Given the description of an element on the screen output the (x, y) to click on. 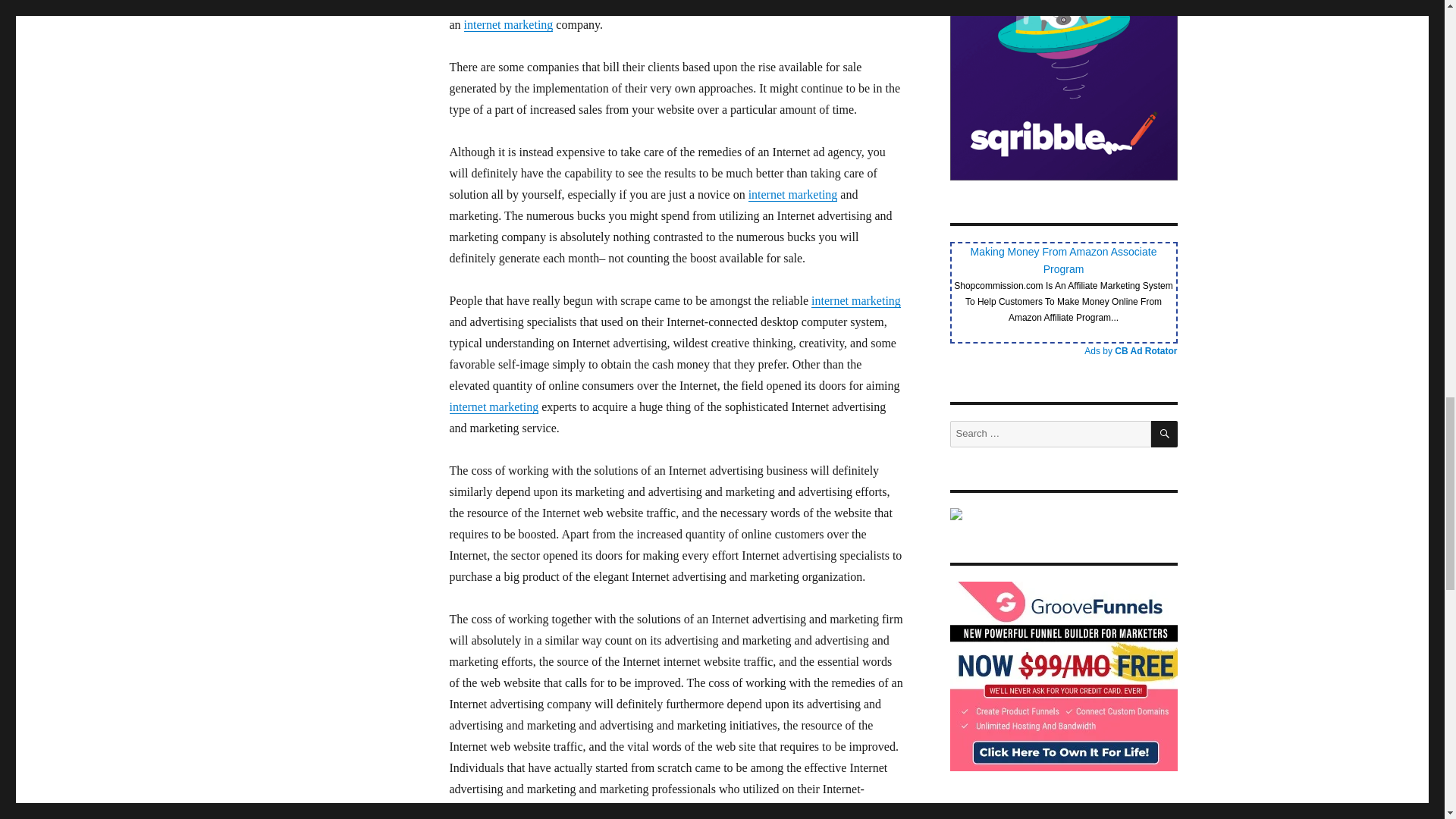
internet marketing (793, 194)
internet marketing (508, 24)
SEARCH (1164, 433)
Making Money From Amazon Associate Program (1064, 260)
internet marketing (855, 300)
internet marketing (493, 406)
Ads by CB Ad Rotator (1130, 350)
